Given the description of an element on the screen output the (x, y) to click on. 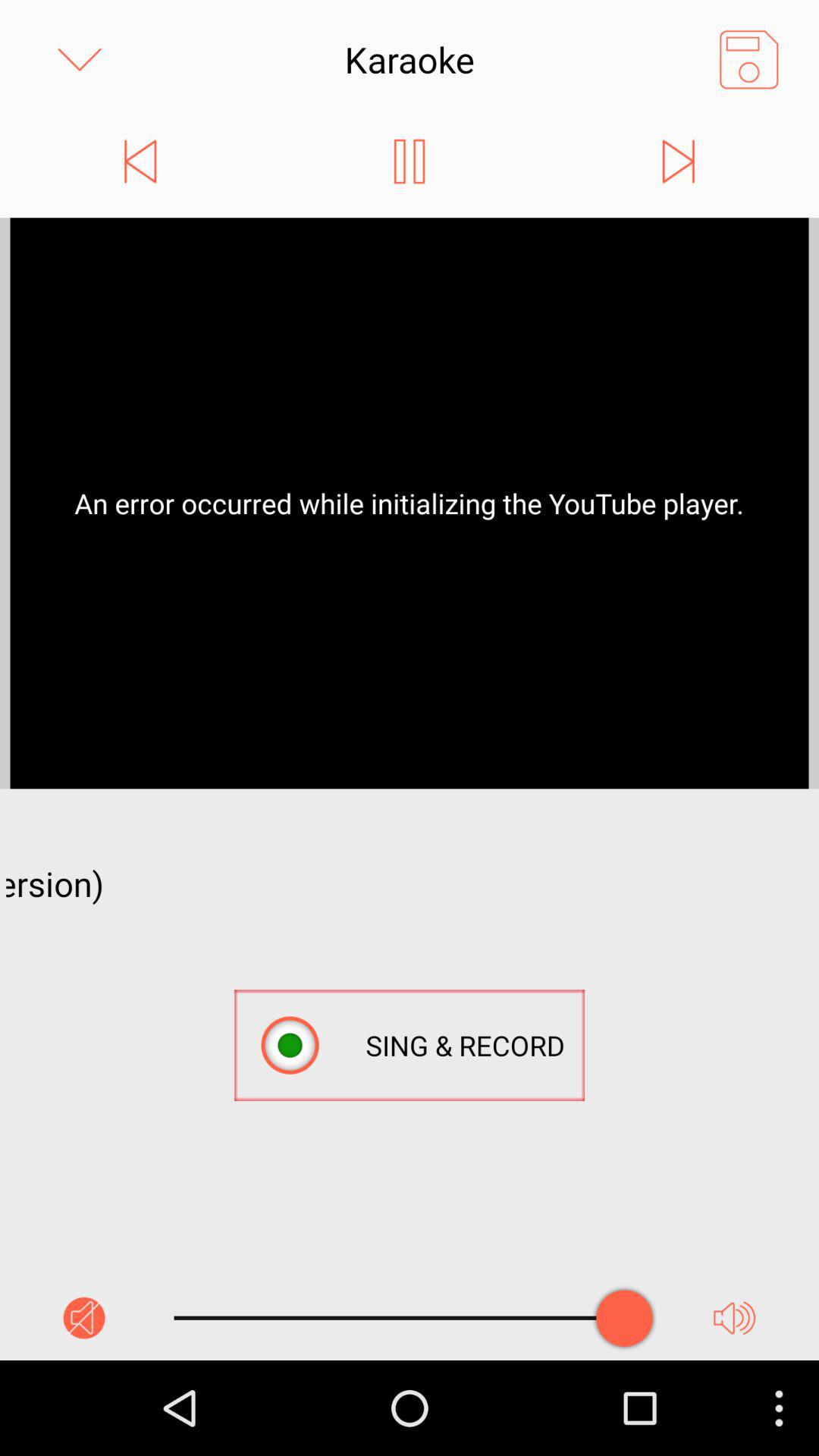
select the pause button on the page (408, 160)
click on previous icon (139, 160)
click on the option foward (678, 160)
